Given the description of an element on the screen output the (x, y) to click on. 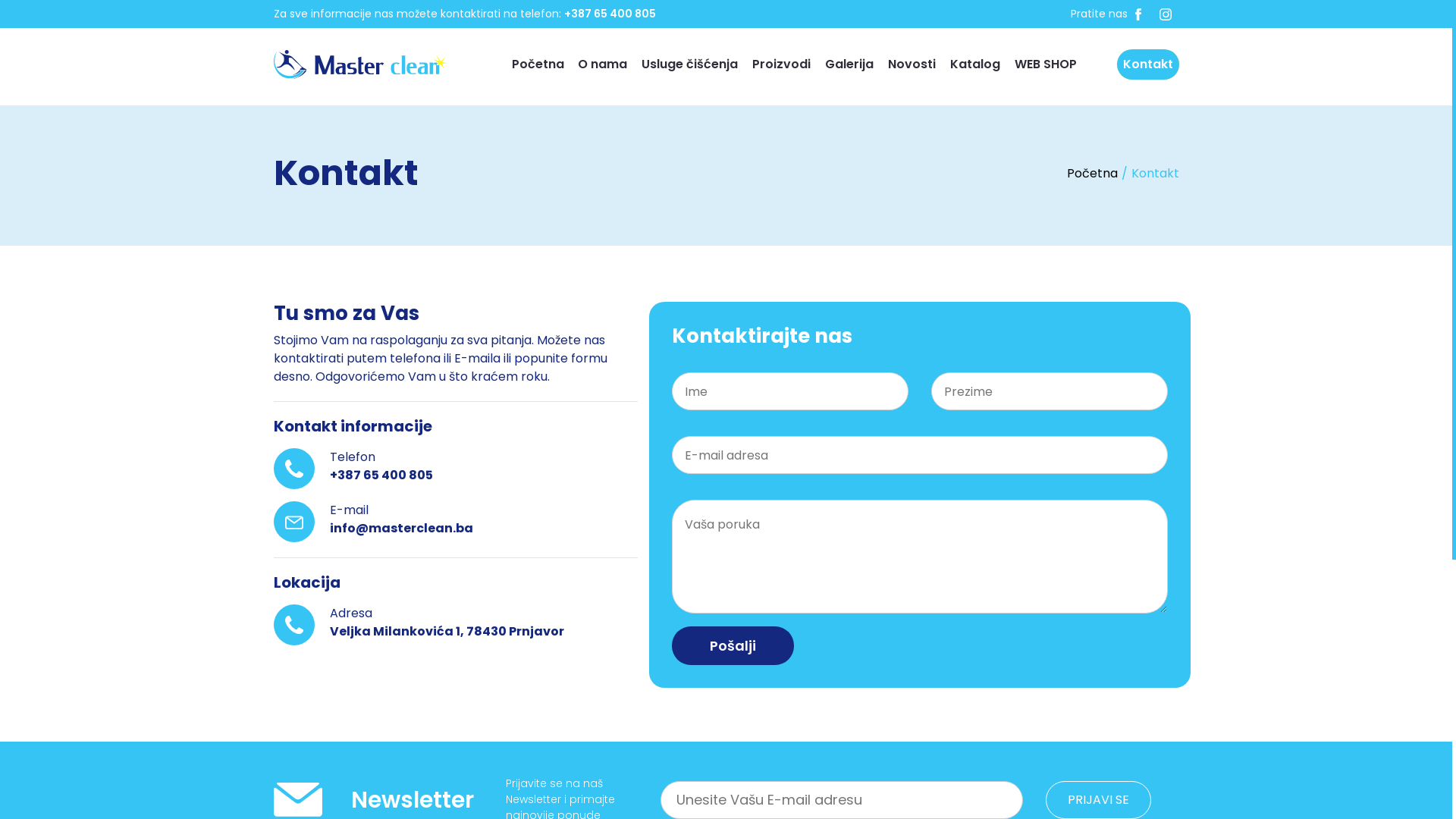
WEB SHOP Element type: text (1045, 64)
Novosti Element type: text (911, 64)
Kontakt Element type: text (1147, 64)
Katalog Element type: text (975, 64)
O nama Element type: text (602, 64)
+387 65 400 805 Element type: text (609, 13)
Proizvodi Element type: text (781, 64)
Galerija Element type: text (849, 64)
